Given the description of an element on the screen output the (x, y) to click on. 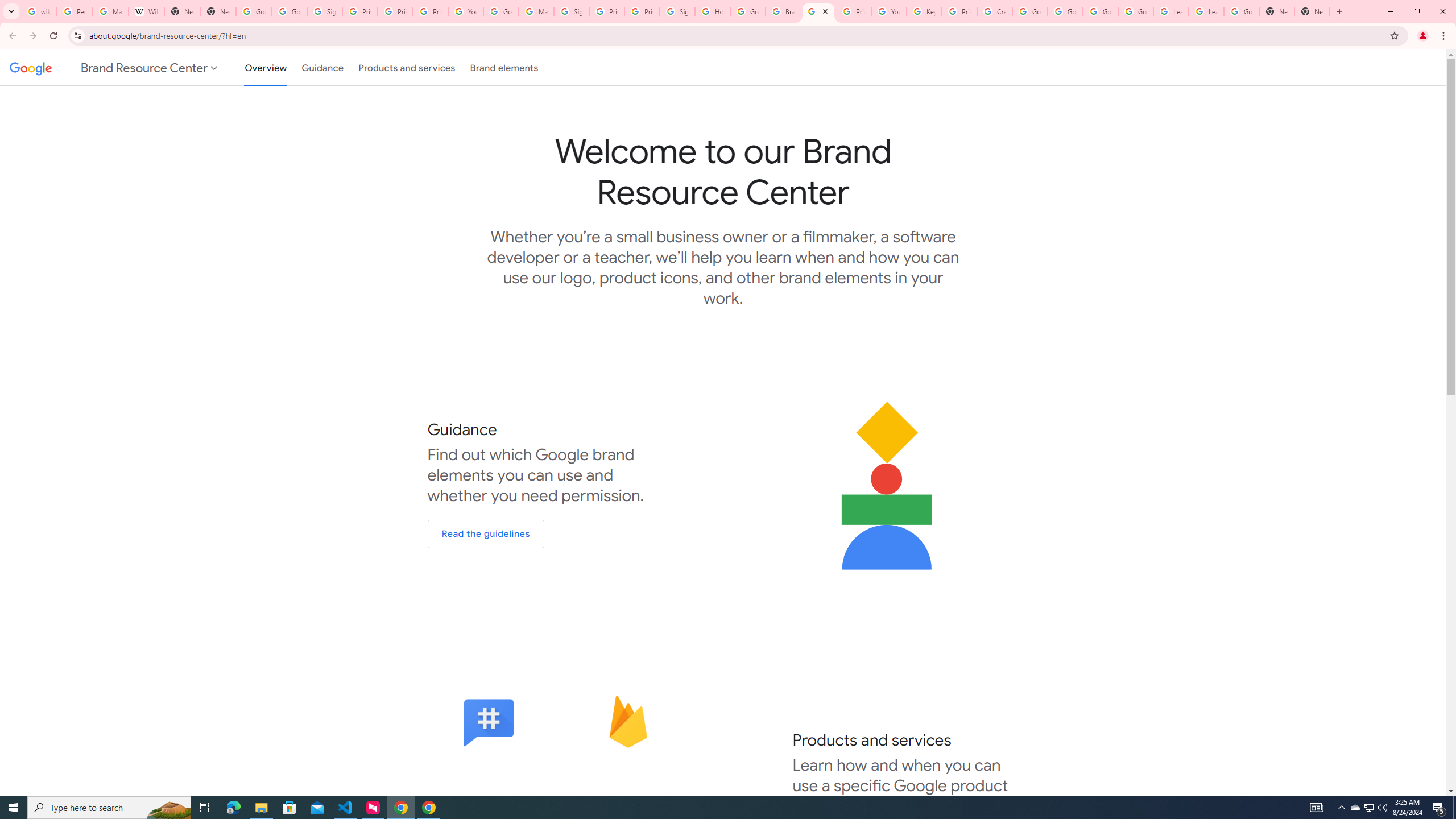
Google Account Help (1099, 11)
Create your Google Account (994, 11)
Manage your Location History - Google Search Help (110, 11)
YouTube (888, 11)
Sign in - Google Accounts (324, 11)
Google Drive: Sign-in (288, 11)
